Given the description of an element on the screen output the (x, y) to click on. 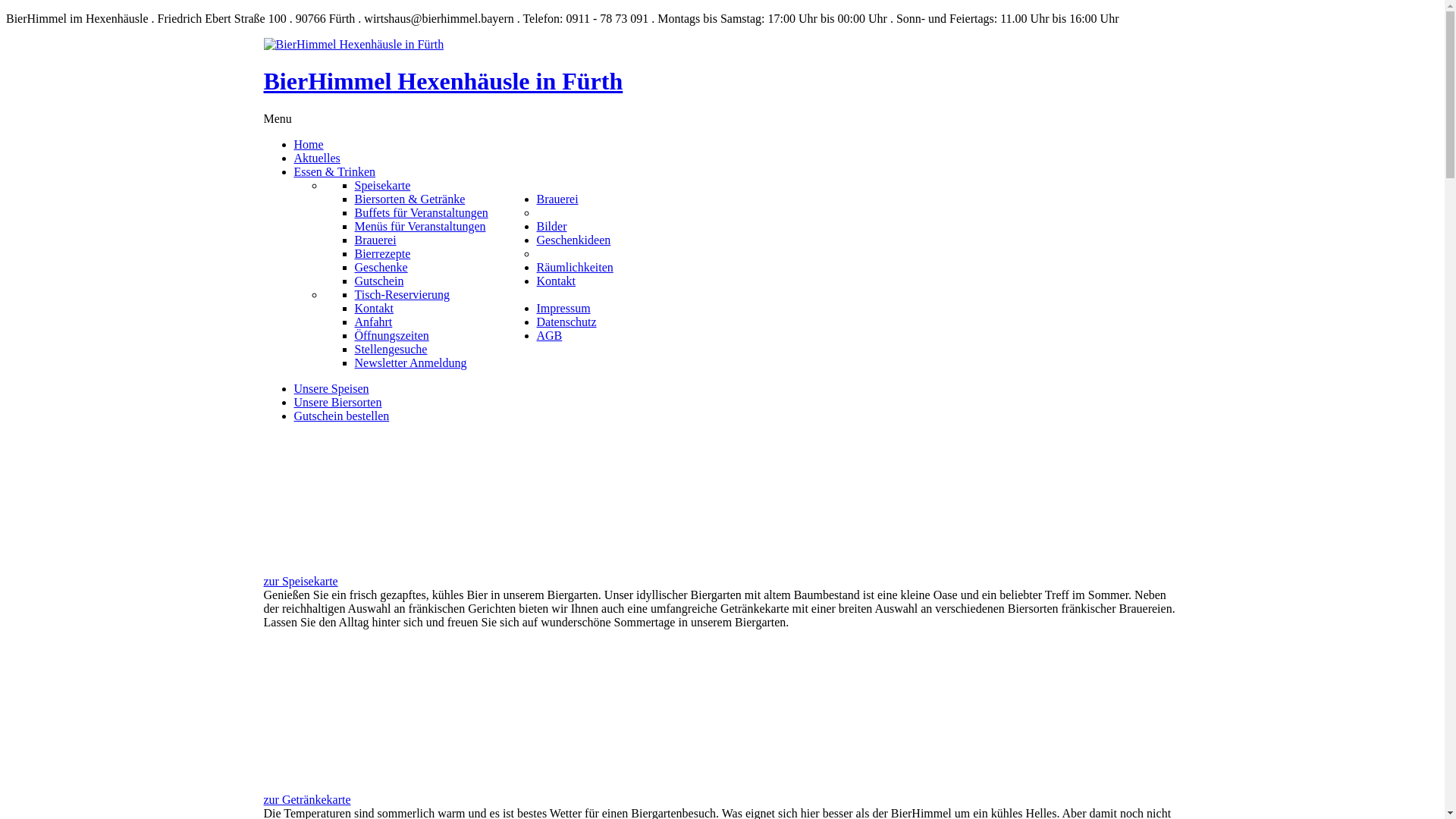
Gutschein Element type: text (379, 280)
AGB Element type: text (549, 335)
Tisch-Reservierung Element type: text (402, 294)
Bierrezepte Element type: text (382, 253)
Datenschutz Element type: text (566, 321)
Speisekarte Element type: text (382, 184)
Aktuelles Element type: text (317, 157)
Geschenkideen Element type: text (573, 239)
Gutschein bestellen Element type: text (341, 415)
Unsere Speisen Element type: text (331, 388)
zur Speisekarte Element type: text (300, 580)
Kontakt Element type: text (556, 280)
Stellengesuche Element type: text (390, 348)
Anfahrt Element type: text (373, 321)
Menu Element type: text (277, 118)
Kontakt Element type: text (374, 307)
Unsere Biersorten Element type: text (338, 401)
Bilder Element type: text (551, 225)
Geschenke Element type: text (380, 266)
Brauerei Element type: text (557, 198)
Home Element type: text (308, 144)
Brauerei Element type: text (375, 239)
Newsletter Anmeldung Element type: text (410, 362)
Impressum Element type: text (563, 307)
Essen & Trinken Element type: text (335, 171)
